Given the description of an element on the screen output the (x, y) to click on. 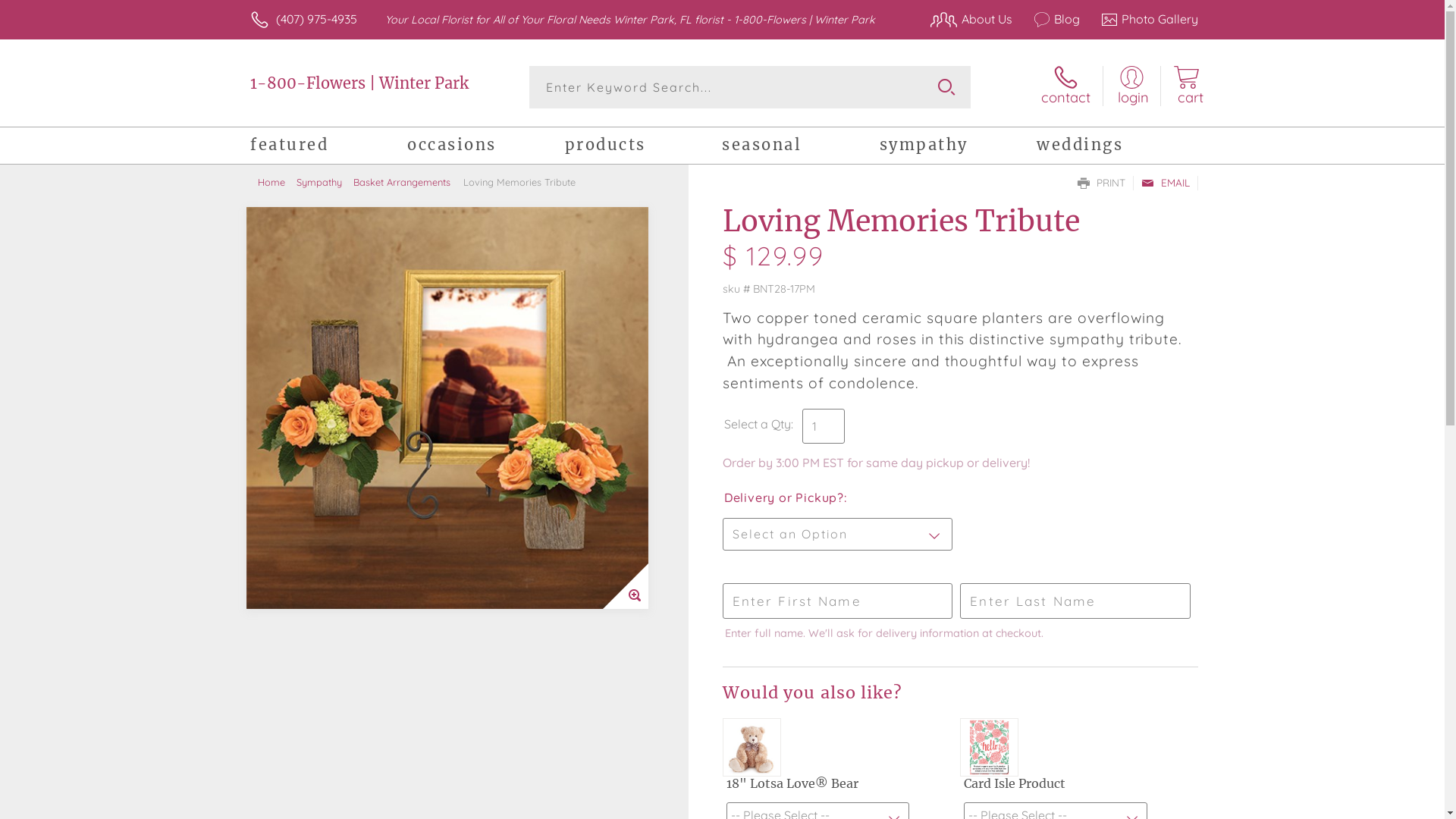
Photo Gallery Element type: text (1140, 18)
Enter Keyword Search... Element type: hover (750, 86)
featured Element type: text (328, 147)
Home Element type: text (276, 181)
PRINT Element type: text (1101, 182)
Basket Arrangements Element type: text (407, 181)
occasions Element type: text (485, 147)
products Element type: text (642, 147)
(407) 975-4935 Element type: text (316, 18)
1-800-Flowers | Winter Park Element type: text (359, 82)
sympathy Element type: text (957, 147)
contact Element type: text (1065, 85)
About Us Element type: text (963, 18)
EMAIL Element type: text (1165, 182)
cart Element type: text (1186, 85)
seasonal Element type: text (799, 147)
Sympathy Element type: text (324, 181)
Blog Element type: text (1048, 18)
weddings Element type: text (1114, 147)
login or register
login Element type: text (1131, 85)
